Given the description of an element on the screen output the (x, y) to click on. 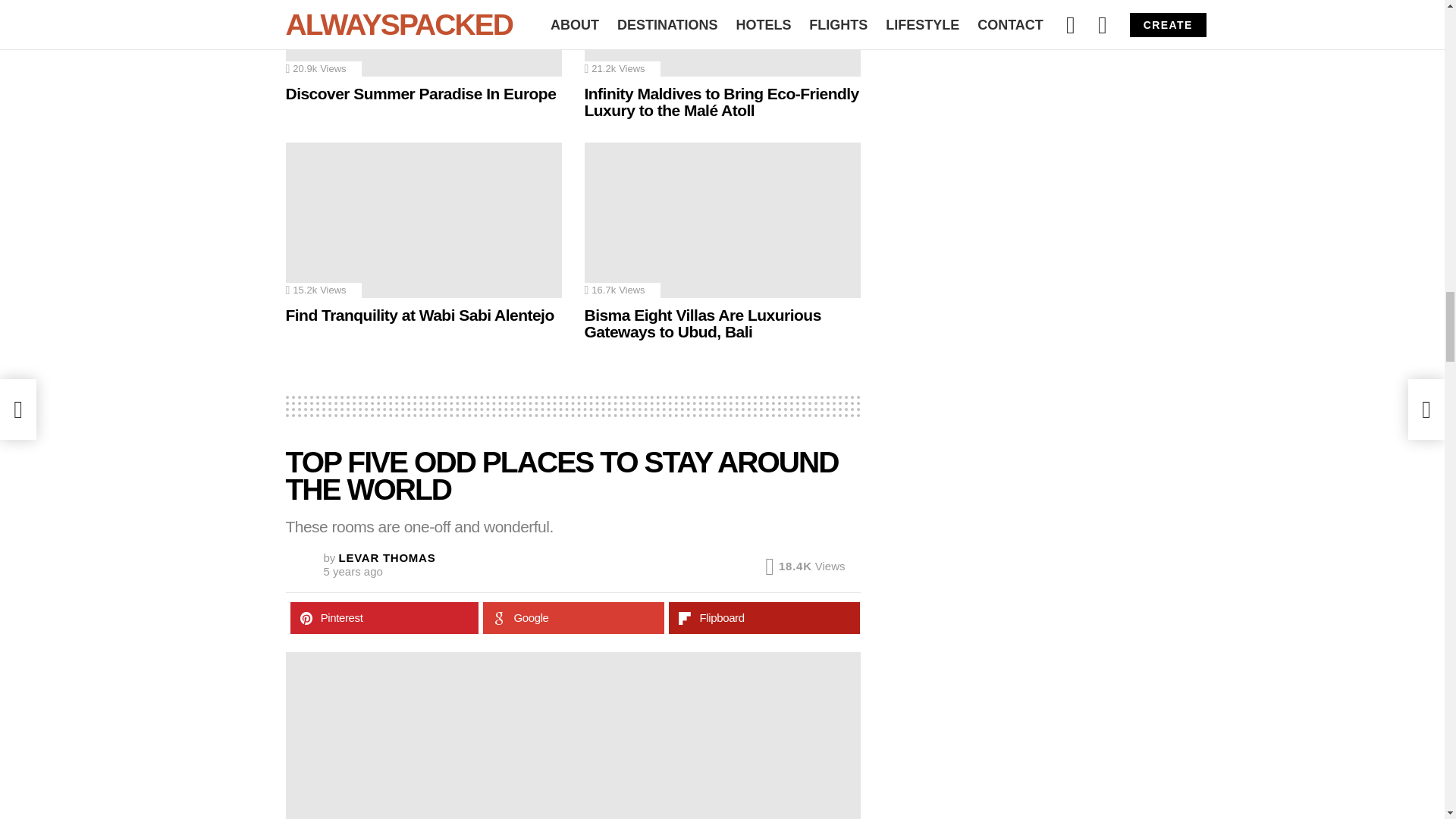
Bisma Eight Villas Are Luxurious Gateways to Ubud, Bali (721, 220)
Discover Summer Paradise In Europe (422, 38)
Posts by LeVar Thomas (387, 557)
February 22, 2019, 5:47 pm (352, 571)
Find Tranquility at Wabi Sabi Alentejo (422, 220)
